Given the description of an element on the screen output the (x, y) to click on. 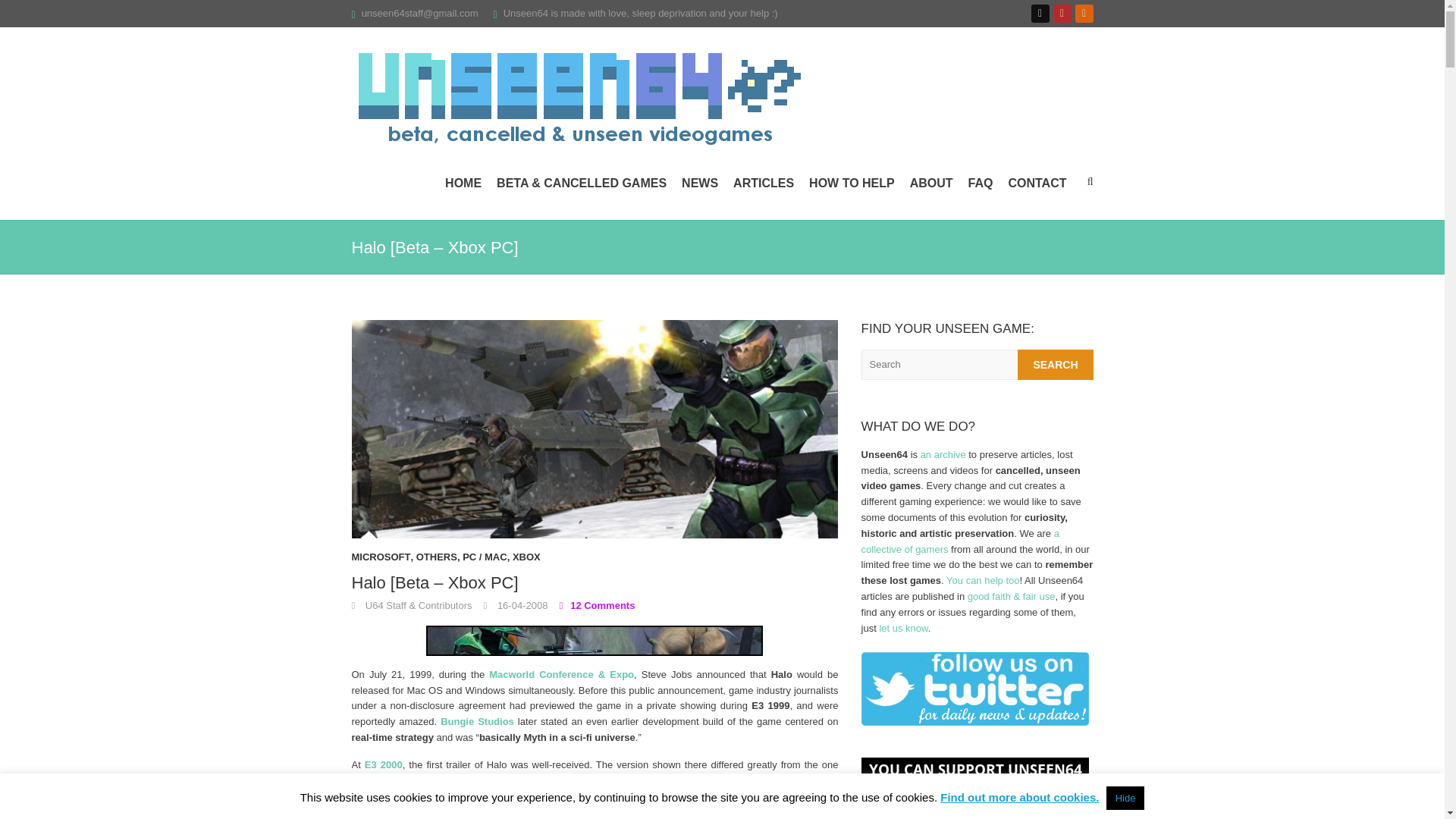
Search (1055, 364)
16-04-2008 (515, 604)
E3 2000 (384, 764)
HOW TO HELP (852, 183)
OTHERS (436, 561)
MICROSOFT (381, 561)
 Mail Us  (420, 12)
Bungie Studios (477, 721)
XBOX (526, 561)
12 Comments (596, 604)
